Given the description of an element on the screen output the (x, y) to click on. 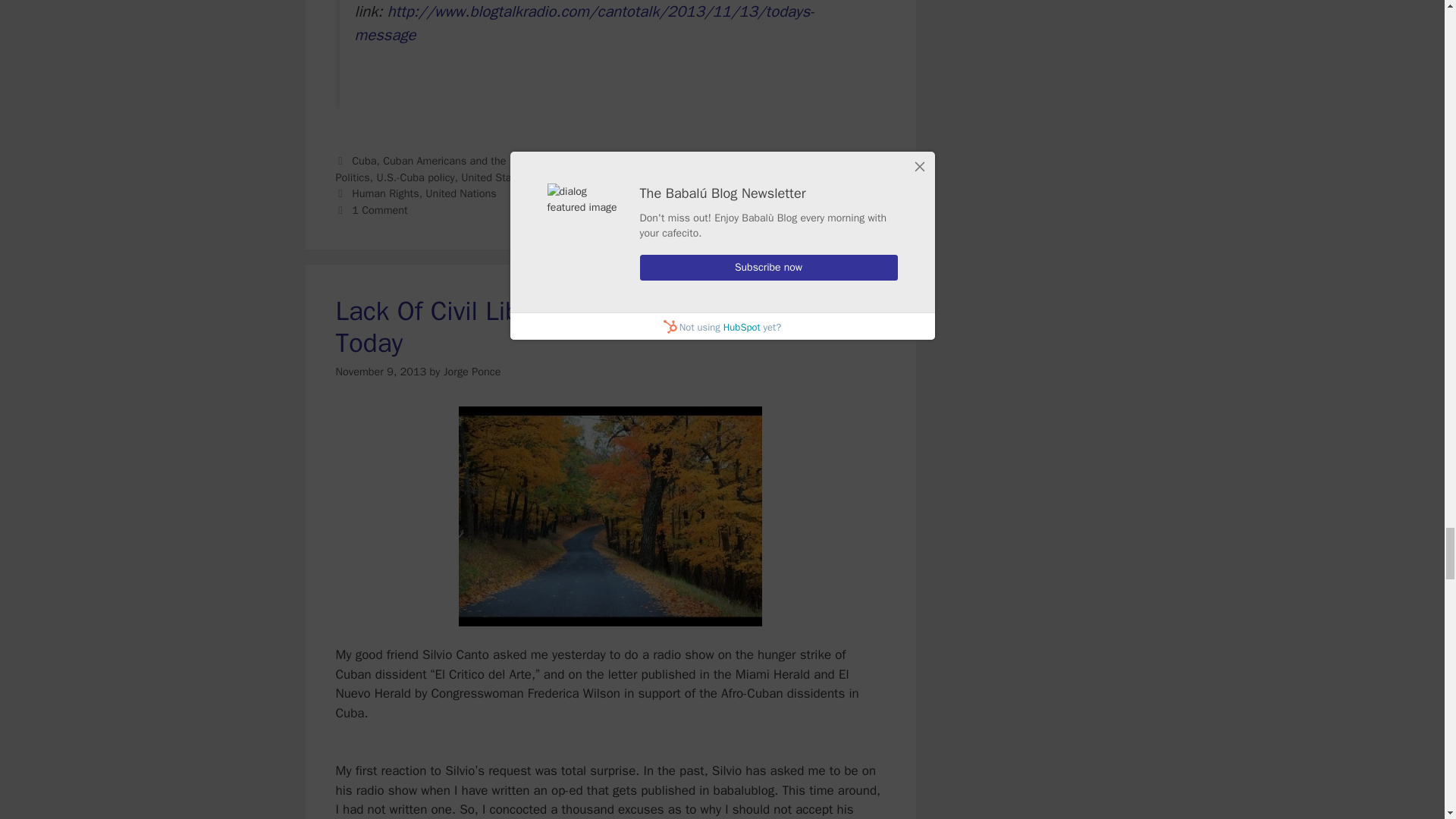
View all posts by Jorge Ponce (472, 371)
